Given the description of an element on the screen output the (x, y) to click on. 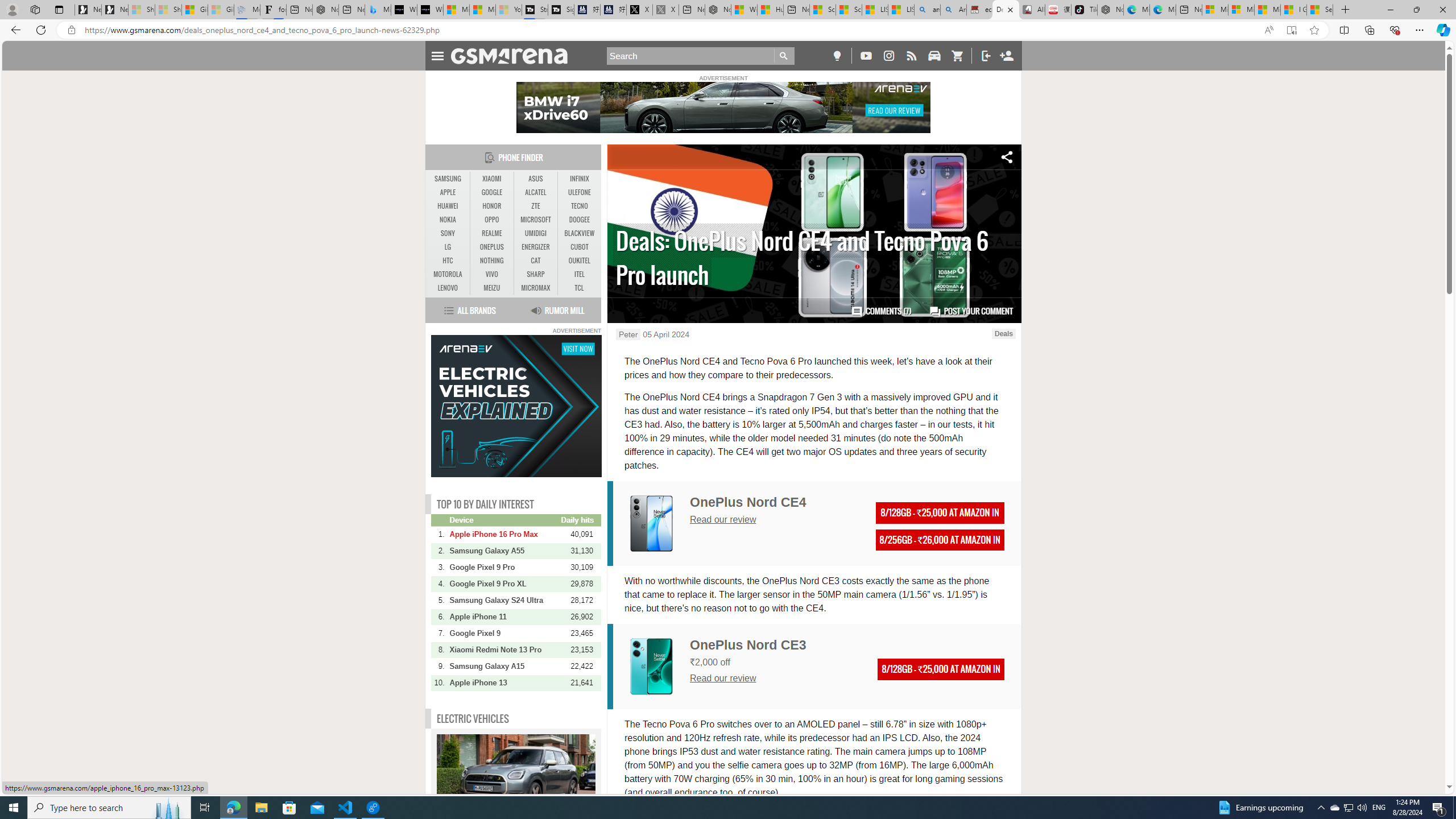
MICROMAX (535, 287)
All Cubot phones (1031, 9)
TECNO (579, 205)
LENOVO (448, 287)
HUAWEI (448, 205)
NOKIA (448, 219)
OnePlus Nord CE4 (748, 501)
CUBOT (579, 246)
SONY (448, 233)
Google Pixel 9 Pro XL (504, 583)
